Given the description of an element on the screen output the (x, y) to click on. 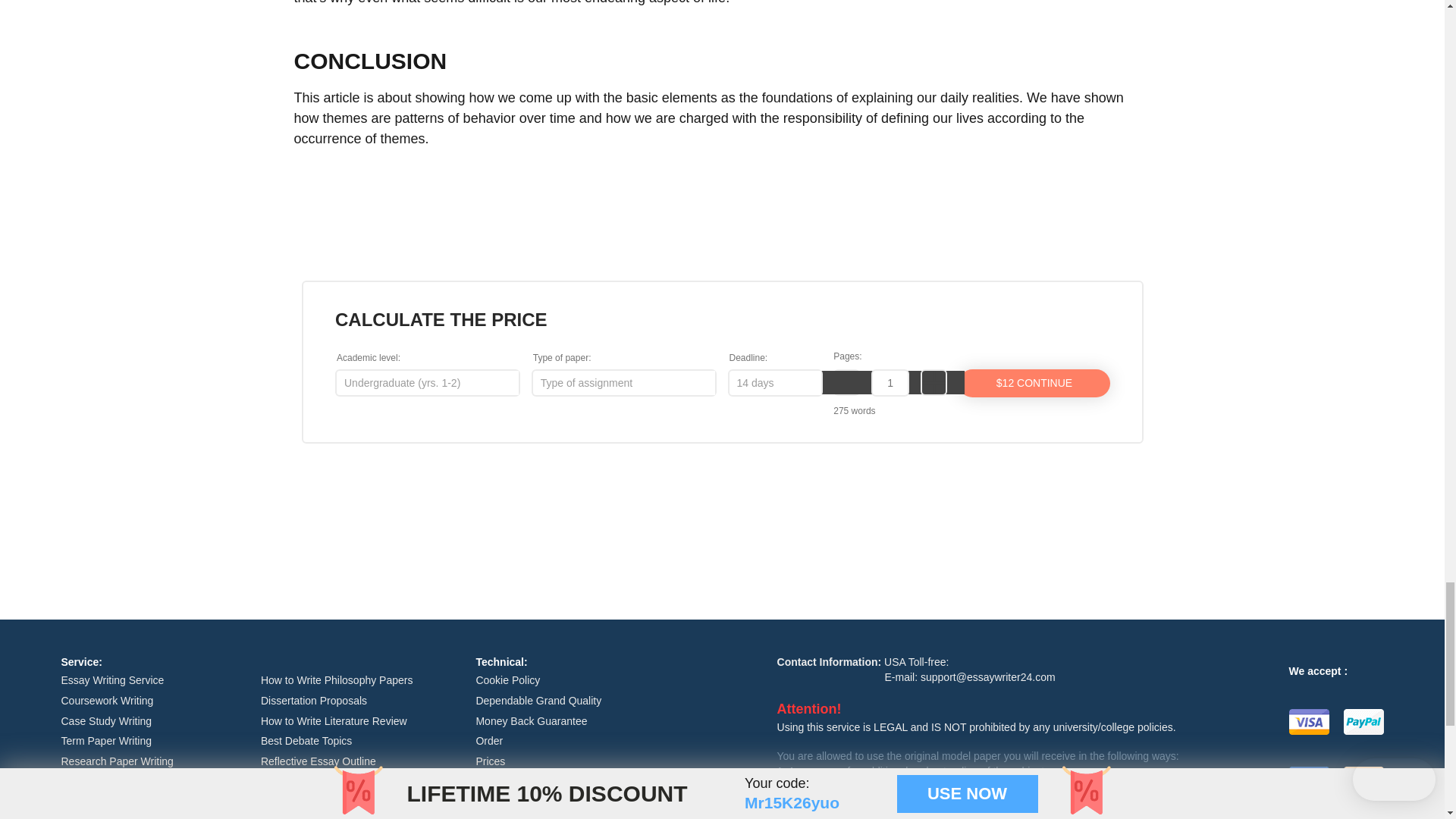
Essay Writing Service (112, 680)
Reflective Essay Outline (317, 761)
How to Write Literature Review (333, 720)
Case Study Writing (106, 720)
Best Debate Topics (306, 740)
Research Paper Writing (117, 761)
Term Paper Writing (106, 740)
Dissertation Proposals (313, 700)
Coursework Writing (106, 700)
How to Write Philosophy Papers (336, 680)
Speech Writing (96, 817)
How to Write a Good Compare and Contrast Essay (343, 807)
Thesis Paper Writing (109, 802)
Dissertation Writing (106, 781)
